Given the description of an element on the screen output the (x, y) to click on. 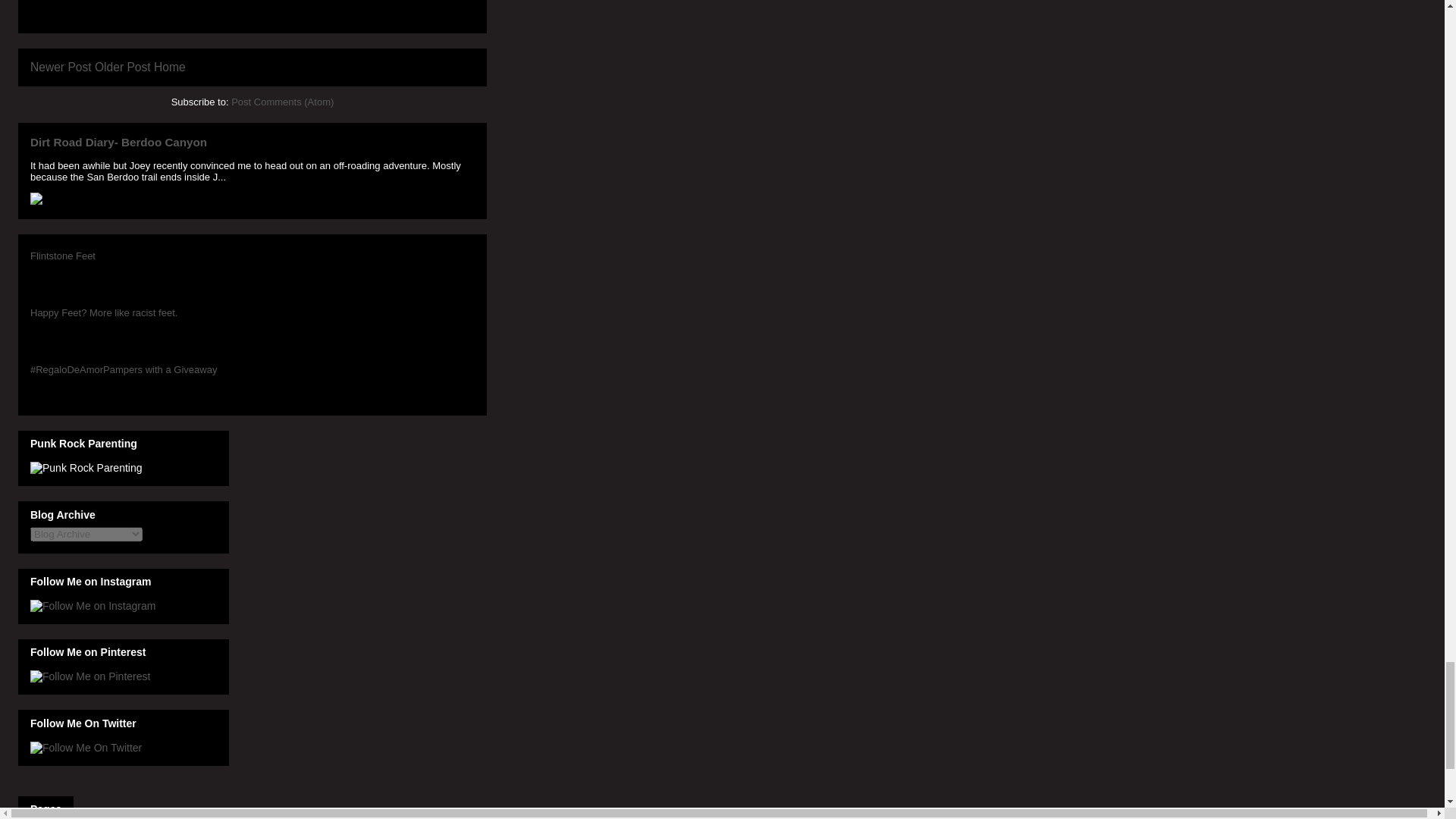
Dirt Road Diary- Berdoo Canyon (118, 141)
Older Post (122, 66)
Newer Post (60, 66)
Home (170, 66)
Older Post (122, 66)
Newer Post (60, 66)
